Given the description of an element on the screen output the (x, y) to click on. 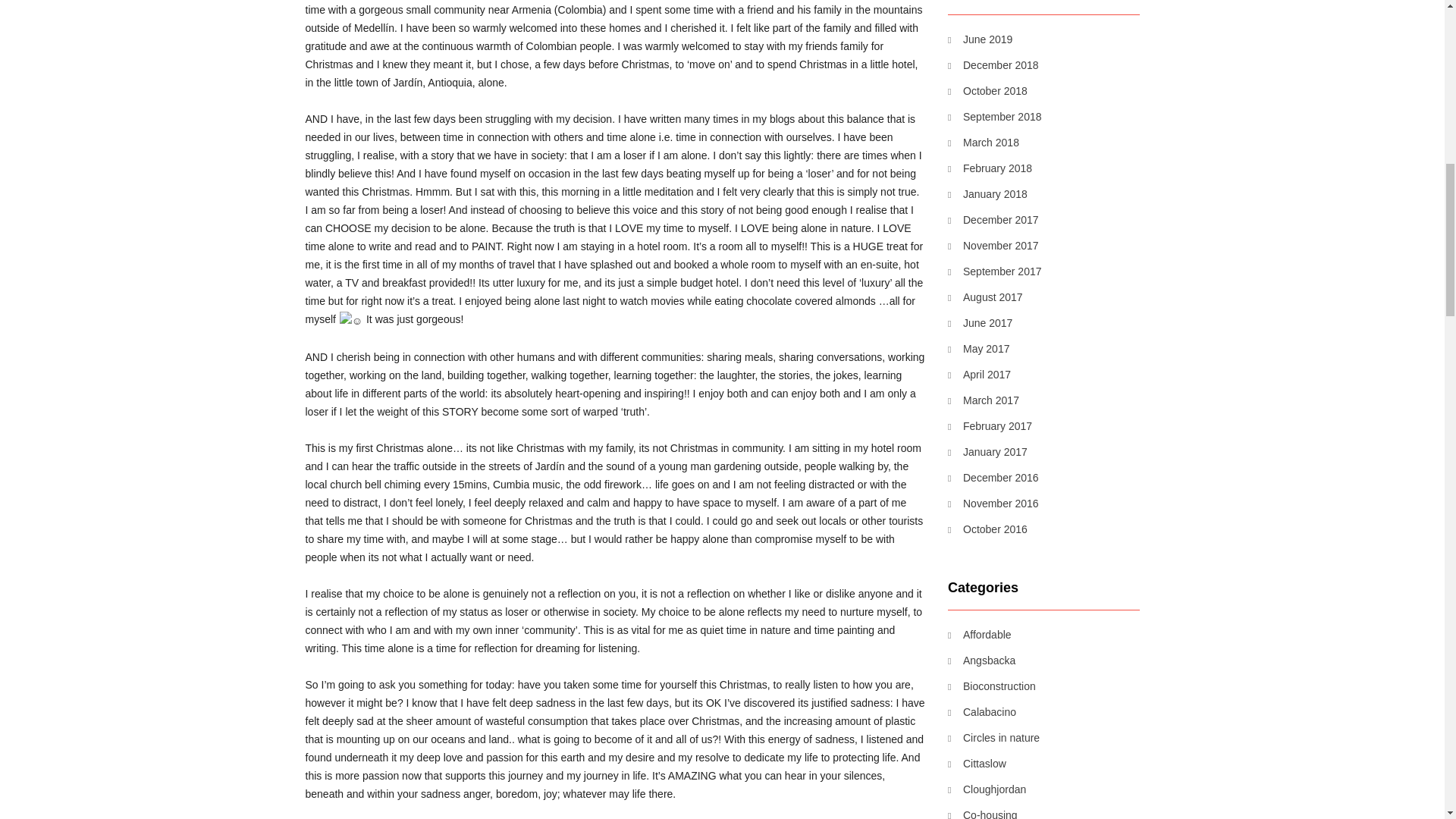
June 2017 (979, 322)
February 2017 (989, 425)
September 2018 (994, 116)
March 2018 (983, 142)
February 2018 (989, 167)
October 2018 (987, 90)
August 2017 (985, 297)
September 2017 (994, 271)
June 2019 (979, 39)
January 2018 (987, 194)
November 2017 (993, 245)
January 2017 (987, 452)
December 2018 (993, 65)
May 2017 (978, 348)
April 2017 (978, 374)
